Given the description of an element on the screen output the (x, y) to click on. 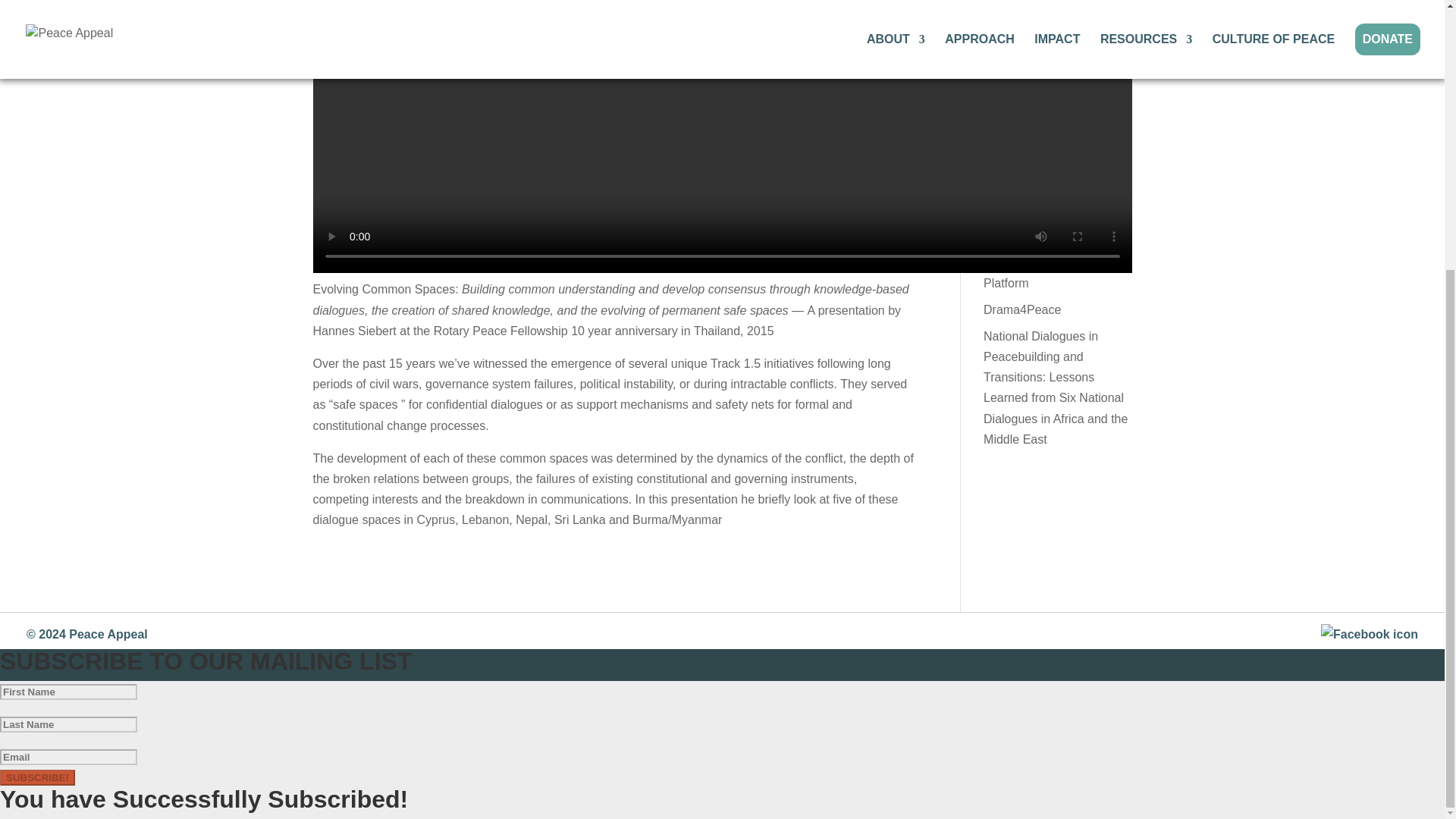
SUBSCRIBE! (37, 777)
Facebook icon (1369, 634)
Peace Appeal Annual Review (1041, 224)
Peace Appeal Facebook (1369, 634)
Drama4Peace (1022, 309)
The Drama 4 Peace Platform (1038, 272)
 Rotary Peace Fellowship 10 year anniversary (553, 330)
